Given the description of an element on the screen output the (x, y) to click on. 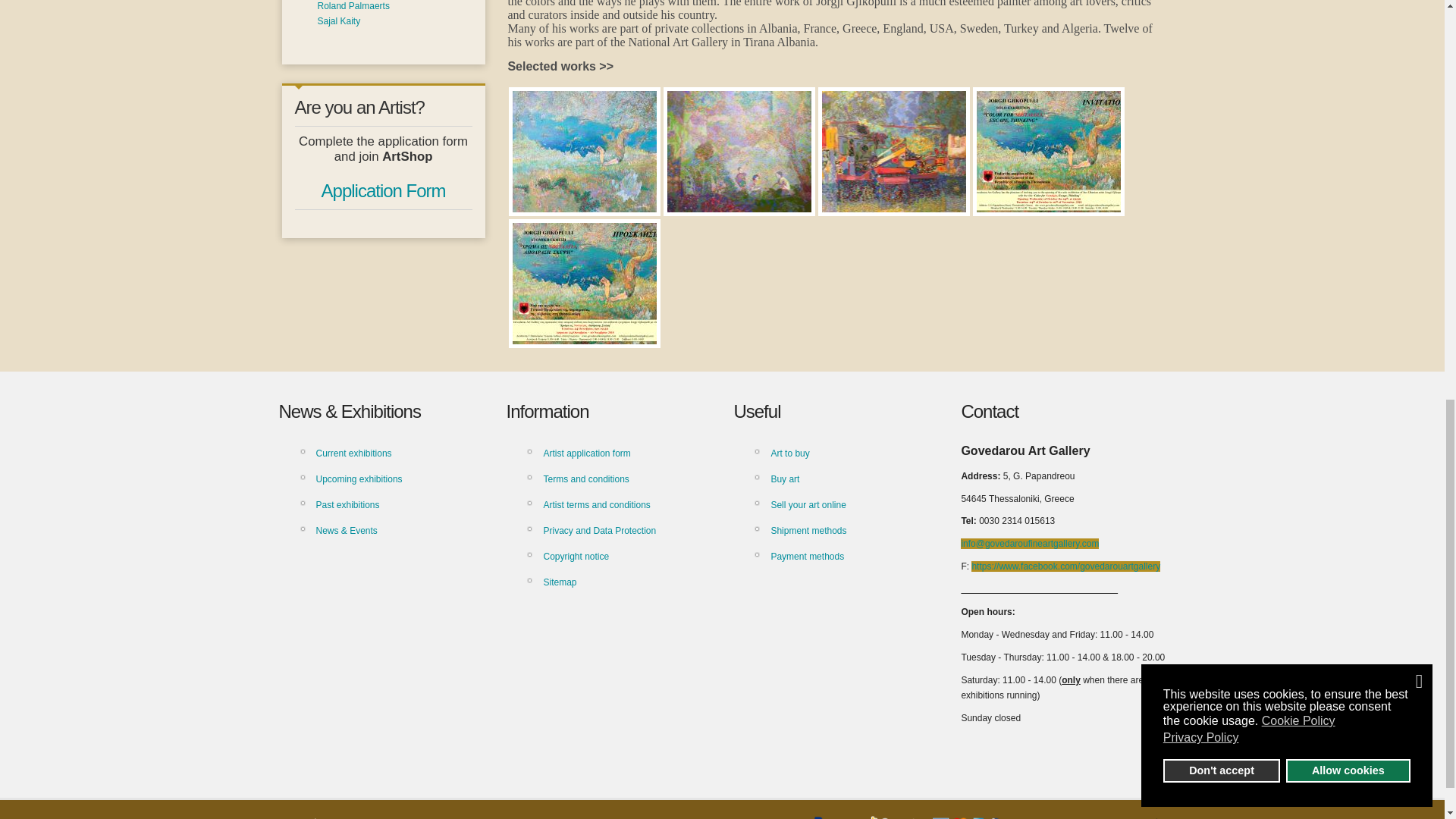
Click to enlarge image 22.jpg (738, 151)
Click to enlarge image 24.jpg (894, 151)
Click to enlarge image 20.jpg (584, 151)
